Given the description of an element on the screen output the (x, y) to click on. 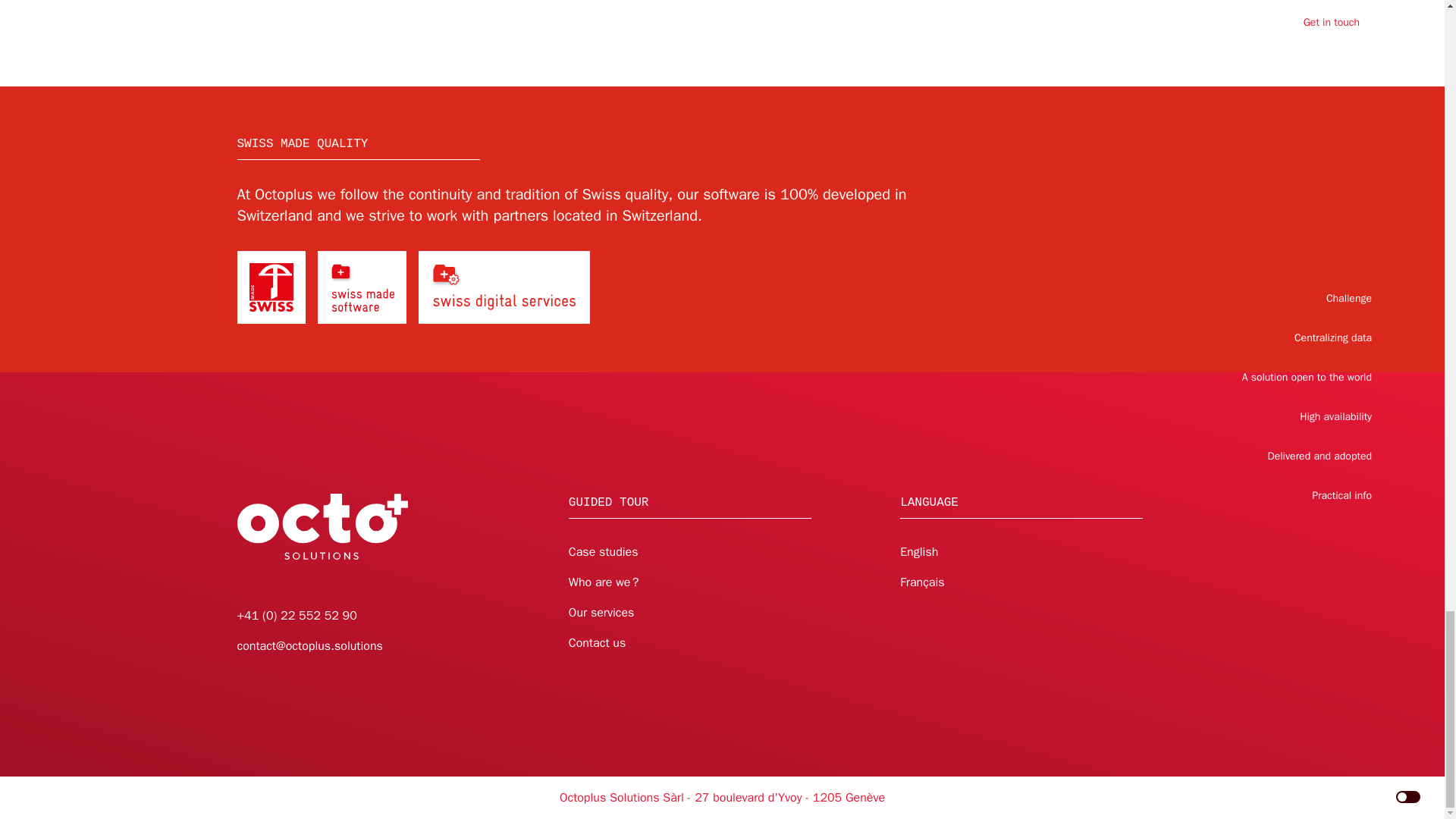
Case studies (604, 551)
Our services (601, 612)
English (918, 551)
Contact us (597, 642)
